Given the description of an element on the screen output the (x, y) to click on. 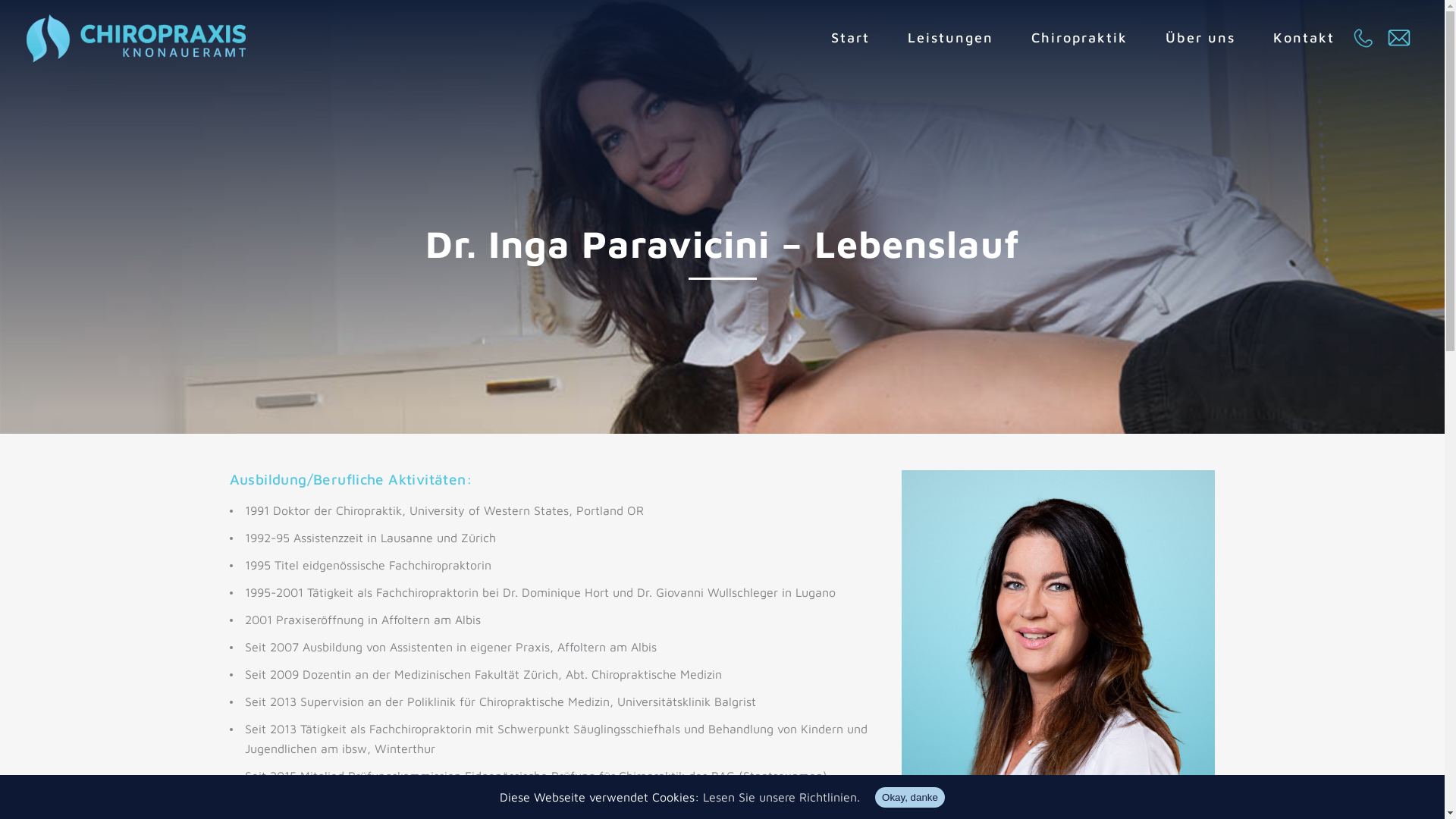
Lesen Sie unsere Richtlinien. Element type: text (780, 796)
Okay, danke Element type: text (909, 797)
Kontakt Element type: text (1303, 37)
Leistungen Element type: text (950, 37)
Start Element type: text (850, 37)
Chiropraktik Element type: text (1079, 37)
